Given the description of an element on the screen output the (x, y) to click on. 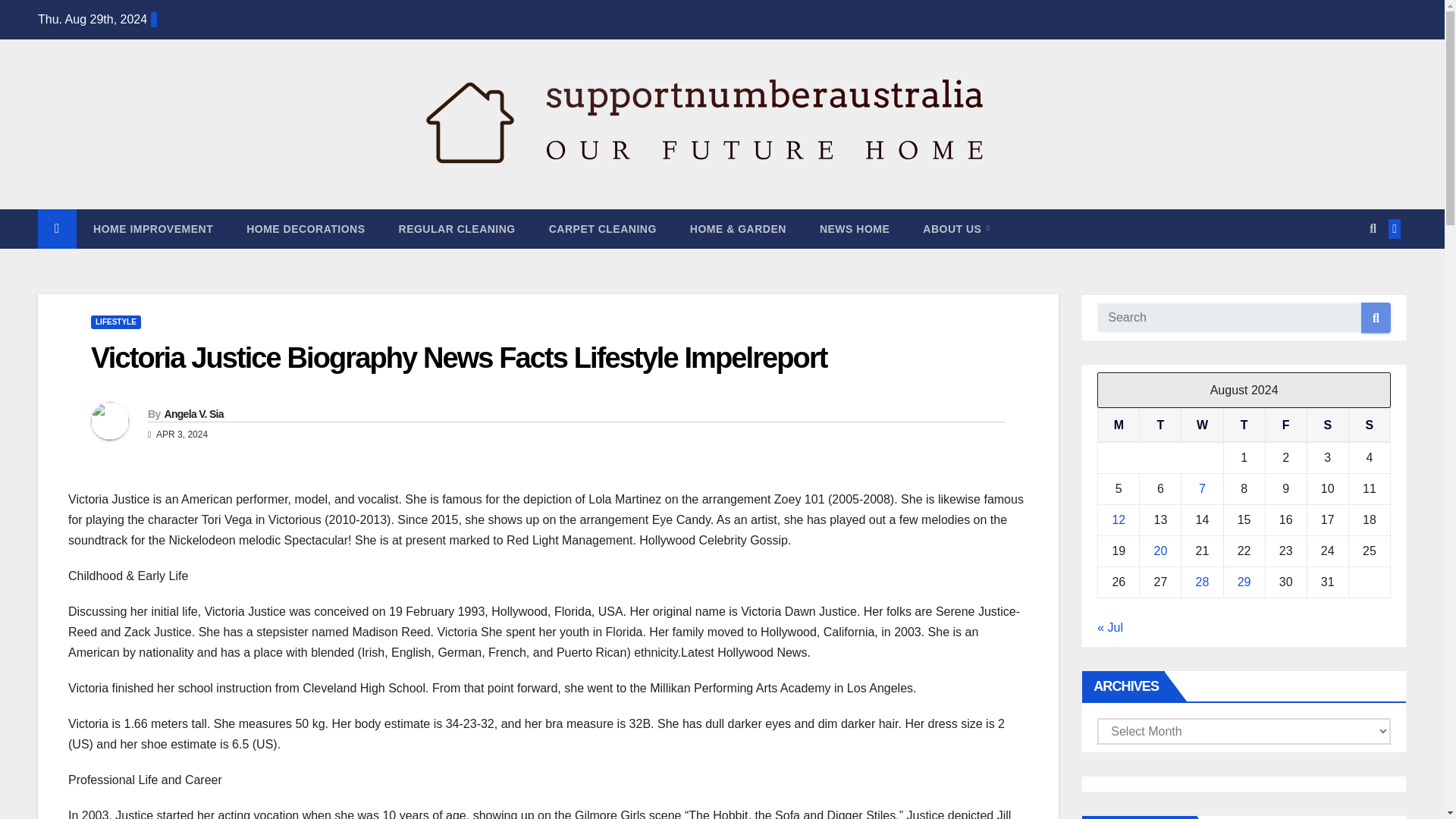
News Home (854, 228)
CARPET CLEANING (602, 228)
Home Decorations (305, 228)
HOME IMPROVEMENT (153, 228)
Home Improvement (153, 228)
Regular Cleaning (456, 228)
ABOUT US (955, 228)
NEWS HOME (854, 228)
HOME DECORATIONS (305, 228)
